Given the description of an element on the screen output the (x, y) to click on. 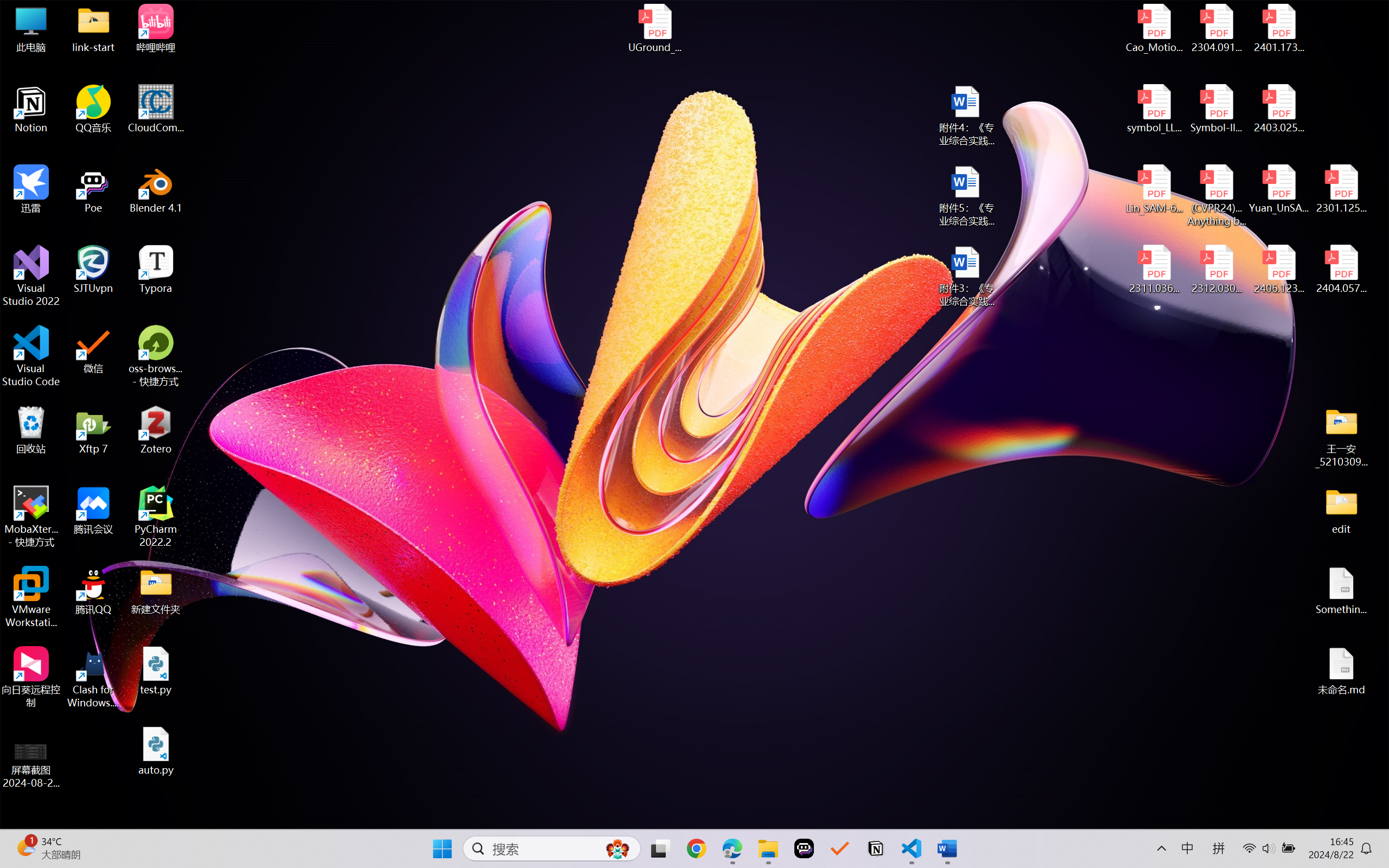
2401.17399v1.pdf (1278, 28)
Visual Studio Code (31, 355)
2301.12597v3.pdf (1340, 189)
UGround_paper.pdf (654, 28)
Xftp 7 (93, 430)
2406.12373v2.pdf (1278, 269)
2403.02502v1.pdf (1278, 109)
